Given the description of an element on the screen output the (x, y) to click on. 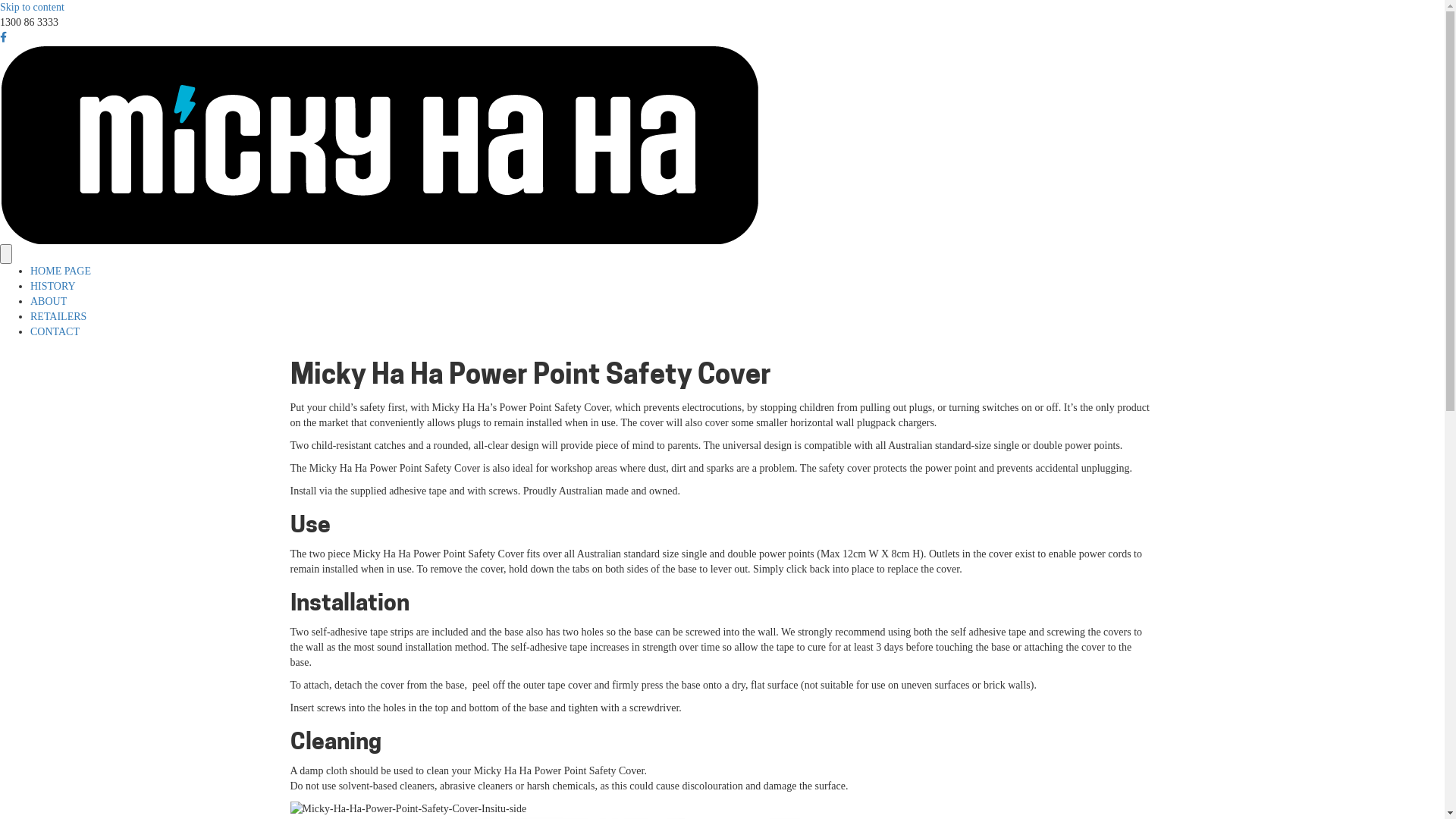
Skip to content Element type: text (32, 6)
Micky-Ha-Ha-Logo-RGB Element type: hover (379, 144)
HISTORY Element type: text (52, 285)
CONTACT Element type: text (54, 331)
HOME PAGE Element type: text (60, 270)
Micky-Ha-Ha-Power-Point-Safety-Cover-Insitu-side Element type: hover (407, 808)
ABOUT Element type: text (48, 301)
RETAILERS Element type: text (58, 316)
